Given the description of an element on the screen output the (x, y) to click on. 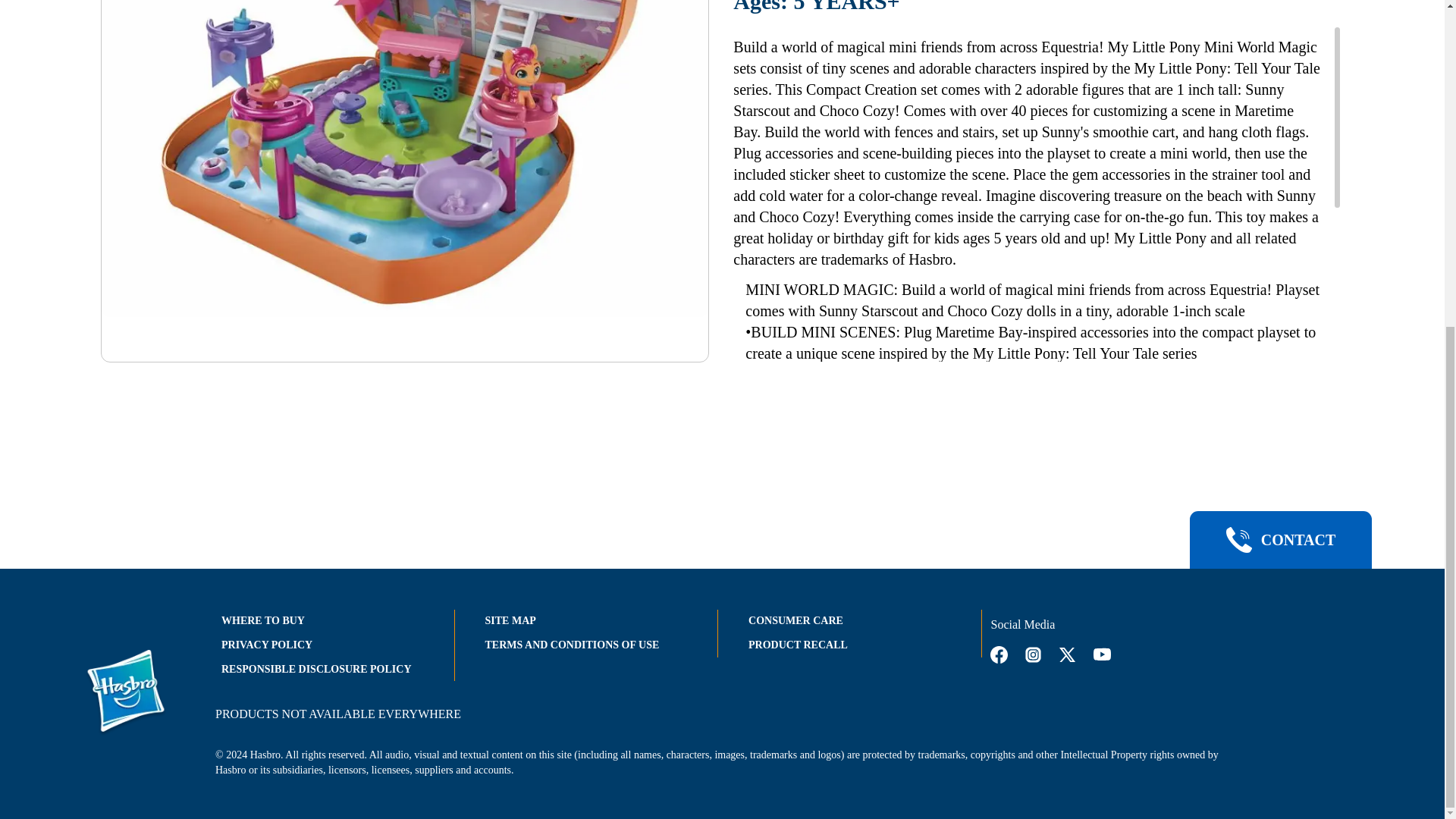
WHERE TO BUY (262, 620)
PRIVACY POLICY (267, 644)
PRODUCT RECALL (797, 644)
TERMS AND CONDITIONS OF USE (571, 644)
CONSUMER CARE (795, 620)
SITE MAP (509, 620)
RESPONSIBLE DISCLOSURE POLICY (316, 668)
